Given the description of an element on the screen output the (x, y) to click on. 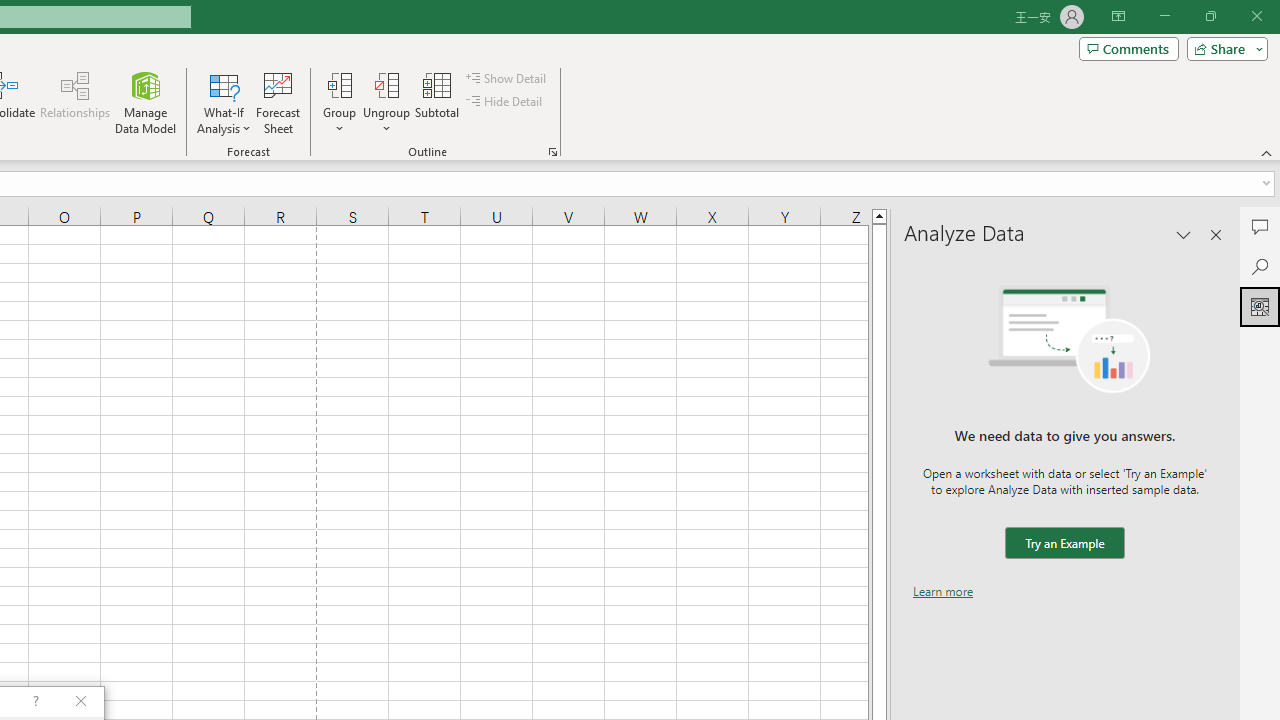
Forecast Sheet (278, 102)
Search (1260, 266)
Hide Detail (505, 101)
Relationships (75, 102)
Show Detail (507, 78)
What-If Analysis (223, 102)
